Given the description of an element on the screen output the (x, y) to click on. 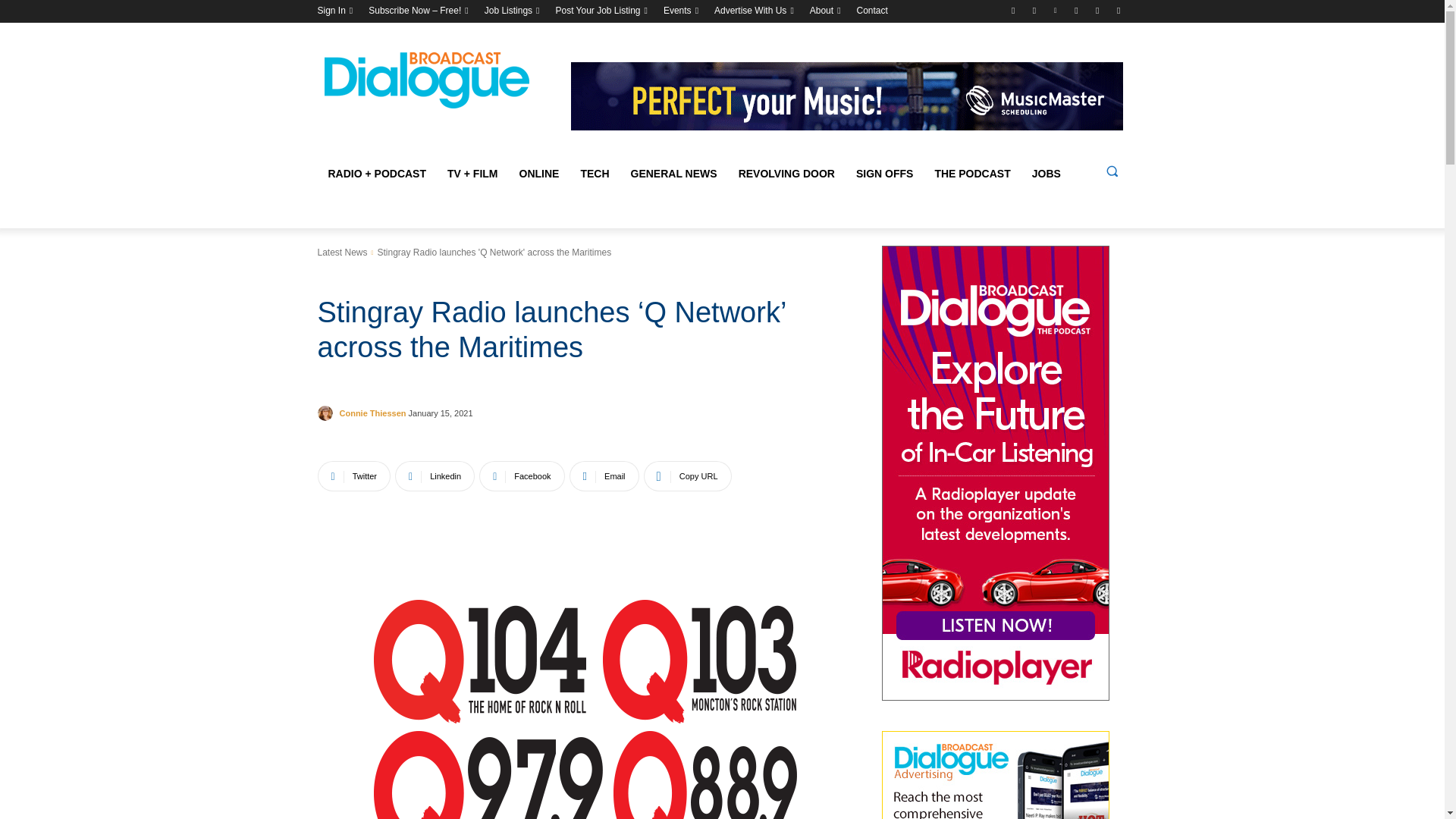
About (820, 10)
THE PODCAST (971, 173)
Contact (872, 10)
SIGN OFFS (884, 173)
Advertise With Us (750, 10)
Linkedin (1055, 9)
Sign In (331, 10)
Instagram (1034, 9)
Facebook (1097, 9)
Mail-1 (1117, 9)
ONLINE (539, 173)
Events (677, 10)
Twitter (1013, 9)
GENERAL NEWS (674, 173)
Connie Thiessen (326, 412)
